Given the description of an element on the screen output the (x, y) to click on. 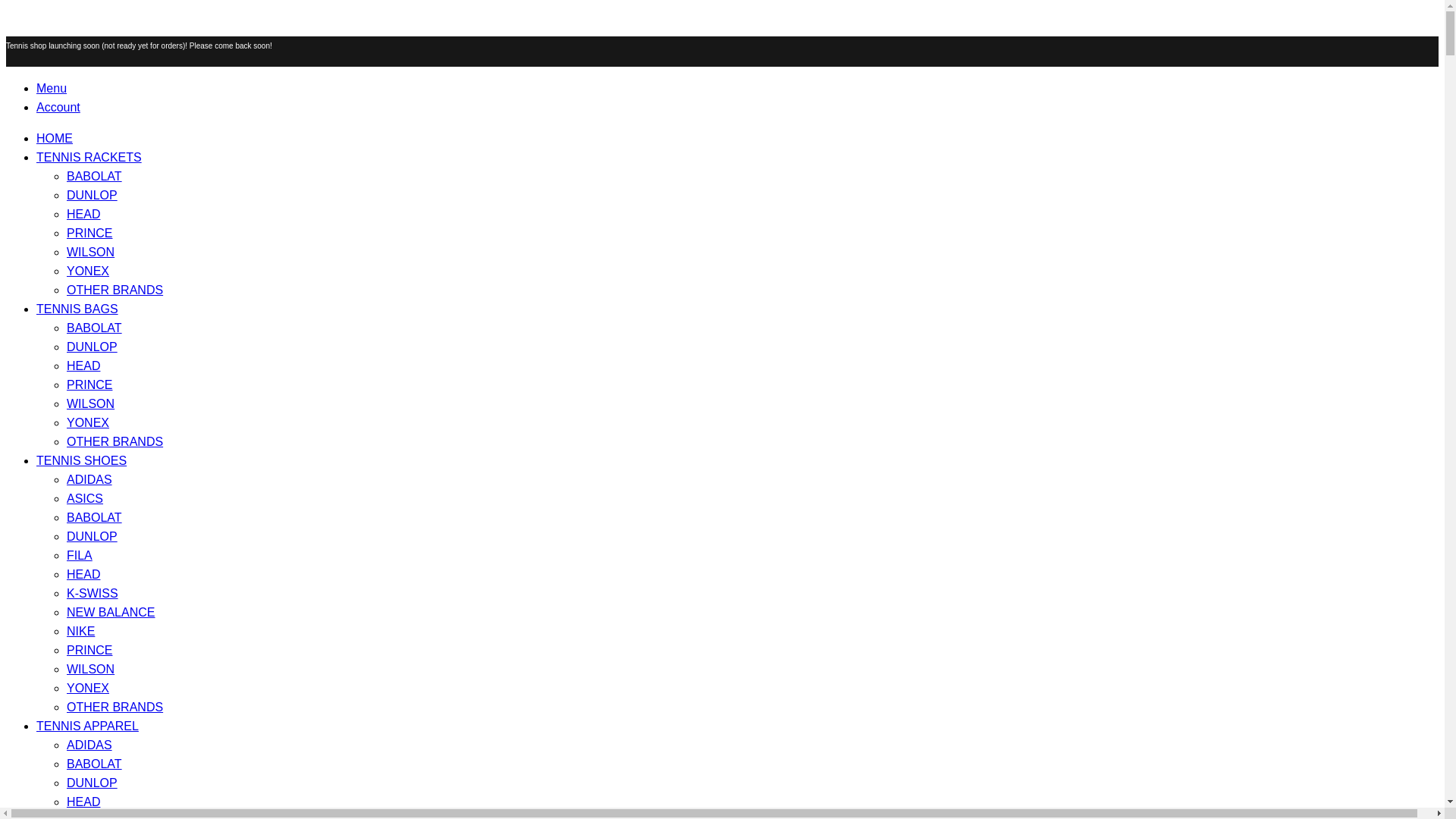
DUNLOP (91, 535)
BABOLAT (94, 175)
K-SWISS (91, 593)
WILSON (90, 251)
NIKE (80, 631)
WILSON (90, 403)
ADIDAS (89, 744)
HEAD (83, 574)
TENNIS APPAREL (87, 725)
BABOLAT (94, 517)
TENNIS RACKETS (88, 156)
PRINCE (89, 384)
FILA (79, 554)
DUNLOP (91, 346)
HEAD (83, 365)
